Given the description of an element on the screen output the (x, y) to click on. 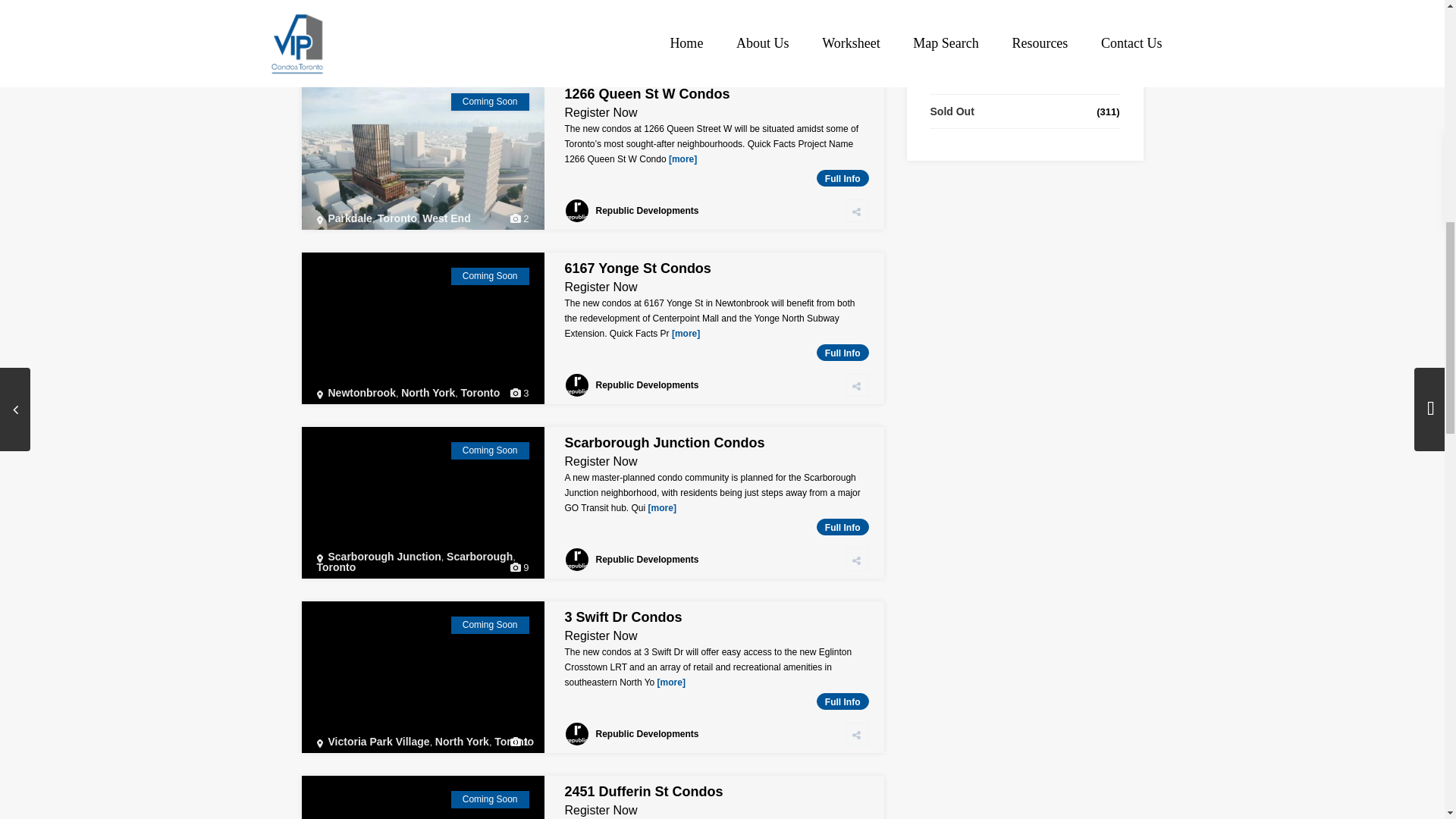
1266 Queen St W Condos (646, 93)
Parkdale (349, 218)
West End (446, 218)
Toronto (396, 218)
